Given the description of an element on the screen output the (x, y) to click on. 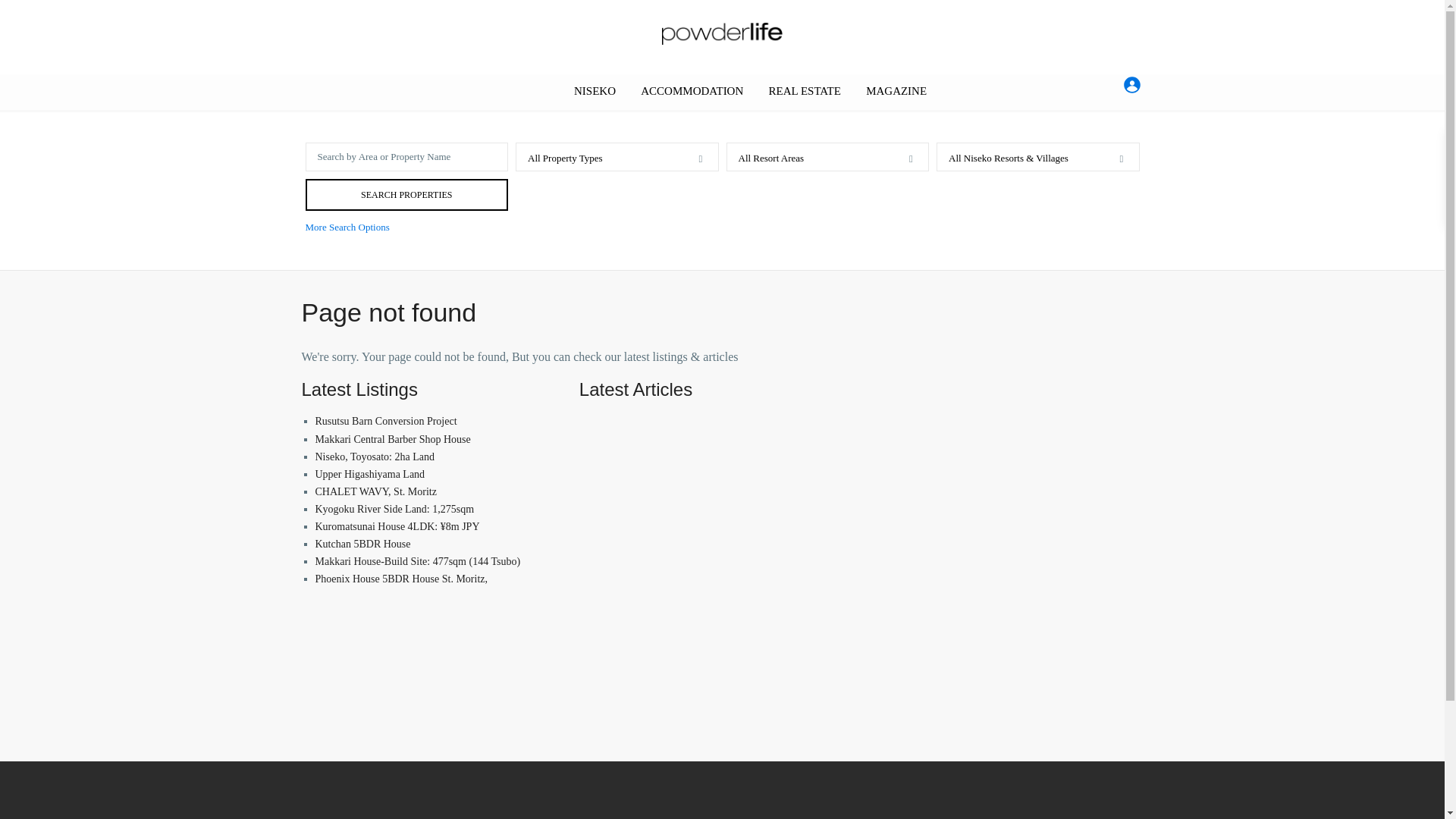
ACCOMMODATION (691, 90)
Search Properties (406, 194)
NISEKO (594, 90)
